Given the description of an element on the screen output the (x, y) to click on. 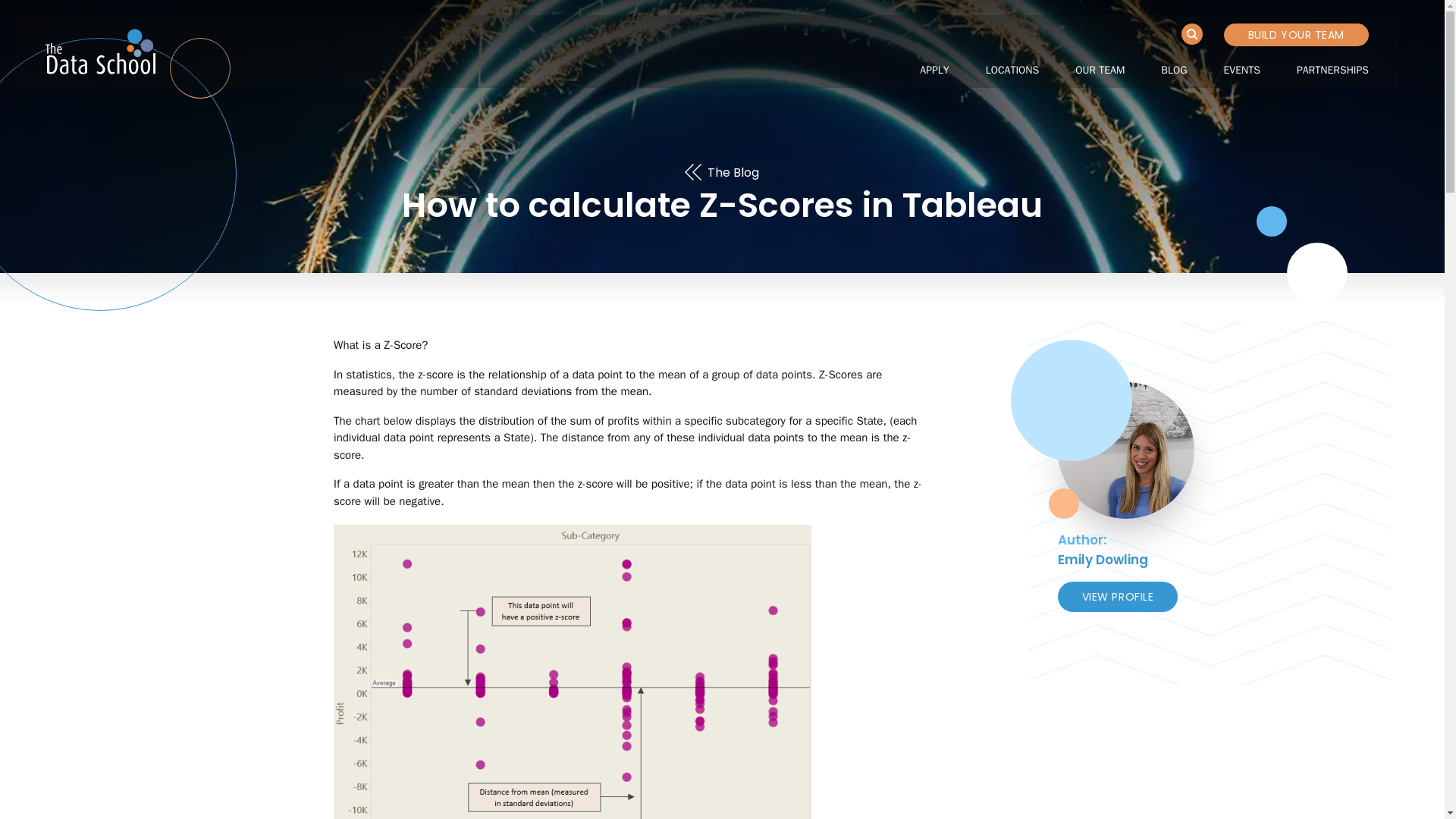
LOCATIONS (1012, 70)
VIEW PROFILE (1117, 596)
PARTNERSHIPS (1332, 70)
BLOG (1173, 70)
The Information Lab Logo (100, 51)
BUILD YOUR TEAM (1296, 34)
APPLY (934, 70)
OUR TEAM (1099, 70)
EVENTS (1241, 70)
Search (1191, 34)
The Blog (721, 172)
